Given the description of an element on the screen output the (x, y) to click on. 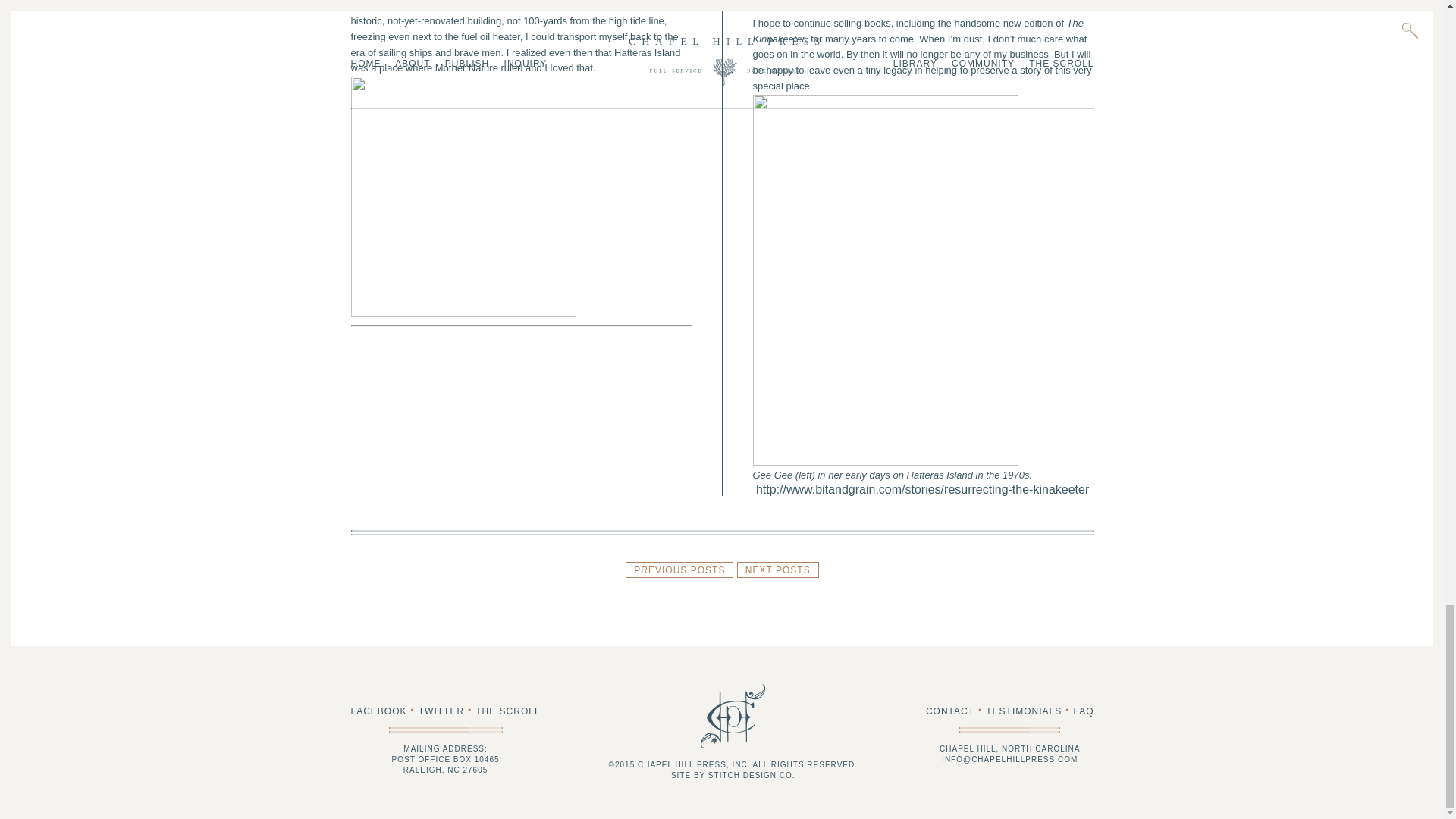
THE SCROLL (508, 710)
TESTIMONIALS (1023, 710)
TWITTER (441, 710)
FAQ (1083, 710)
NEXT POSTS (777, 569)
PREVIOUS POSTS (679, 569)
STITCH DESIGN CO. (750, 775)
FACEBOOK (378, 710)
CONTACT (950, 710)
